Given the description of an element on the screen output the (x, y) to click on. 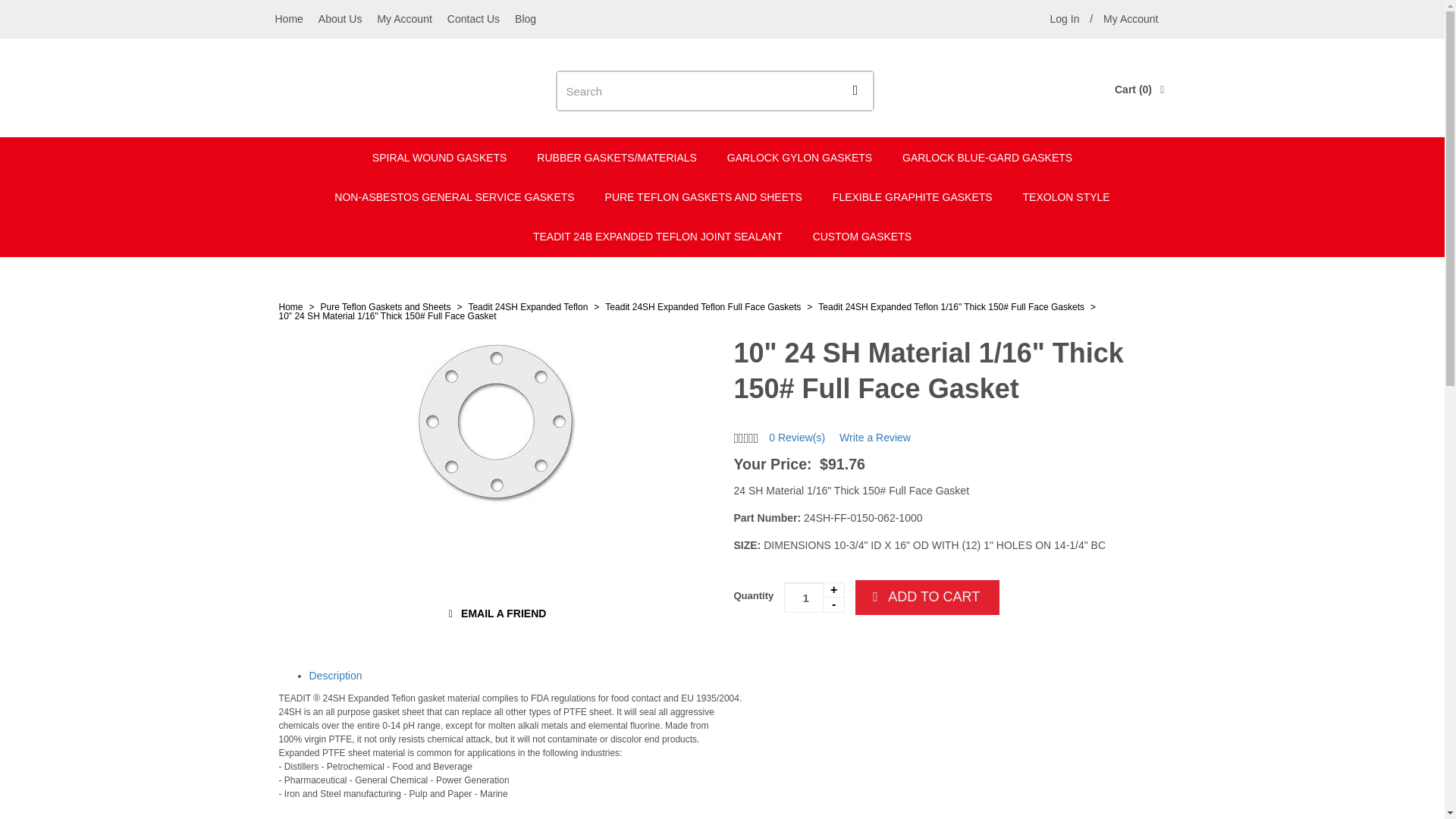
About Us (340, 18)
Home (288, 18)
1 (814, 597)
SPIRAL WOUND GASKETS (439, 157)
My Account (404, 18)
FLEXIBLE GRAPHITE GASKETS (912, 197)
CUSTOM GASKETS (861, 236)
Pure Teflon Gaskets and Sheets (385, 307)
TEXOLON STYLE (1064, 18)
